Given the description of an element on the screen output the (x, y) to click on. 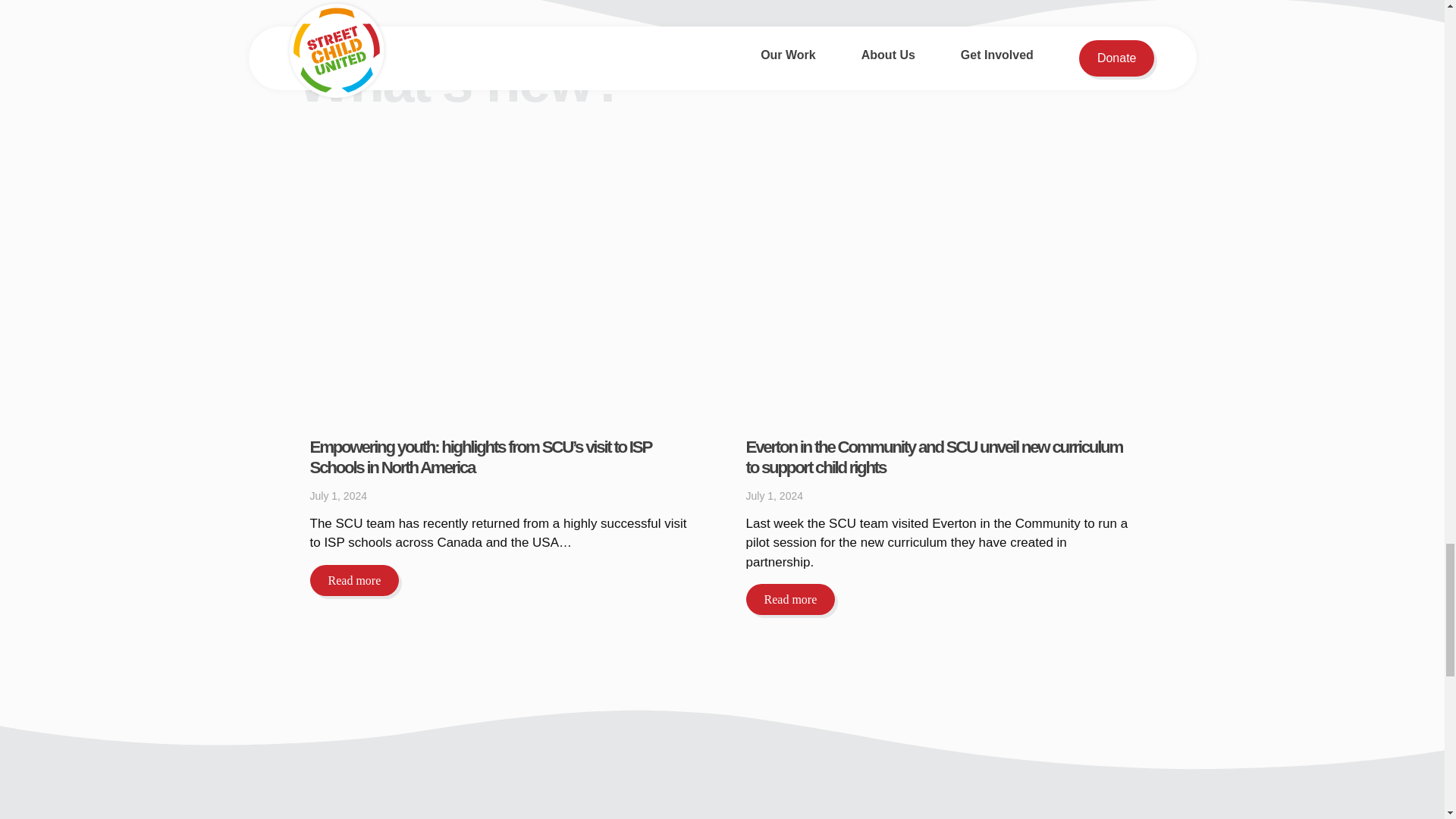
Read more (790, 599)
Read more (353, 580)
